Given the description of an element on the screen output the (x, y) to click on. 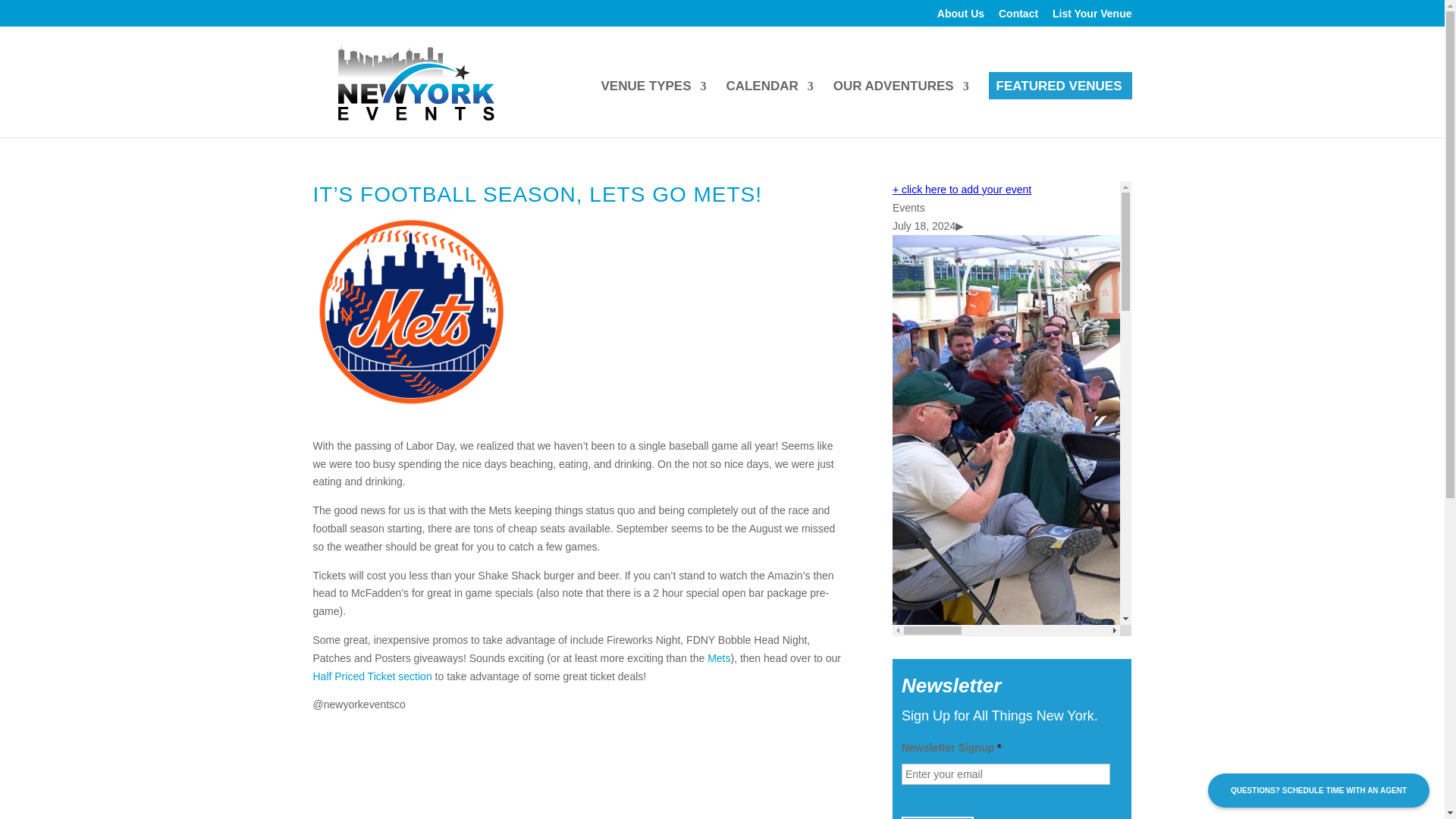
List Your Venue (1092, 16)
Contact (1018, 16)
Half Priced Tickets (371, 676)
FEATURED VENUES (1058, 109)
Calendar (768, 109)
CALENDAR (768, 109)
About Us (960, 16)
Opening Day!  New York Mets vs. Washington Nationals (718, 657)
VENUE TYPES (652, 109)
OUR ADVENTURES (900, 109)
Submit (937, 817)
